Given the description of an element on the screen output the (x, y) to click on. 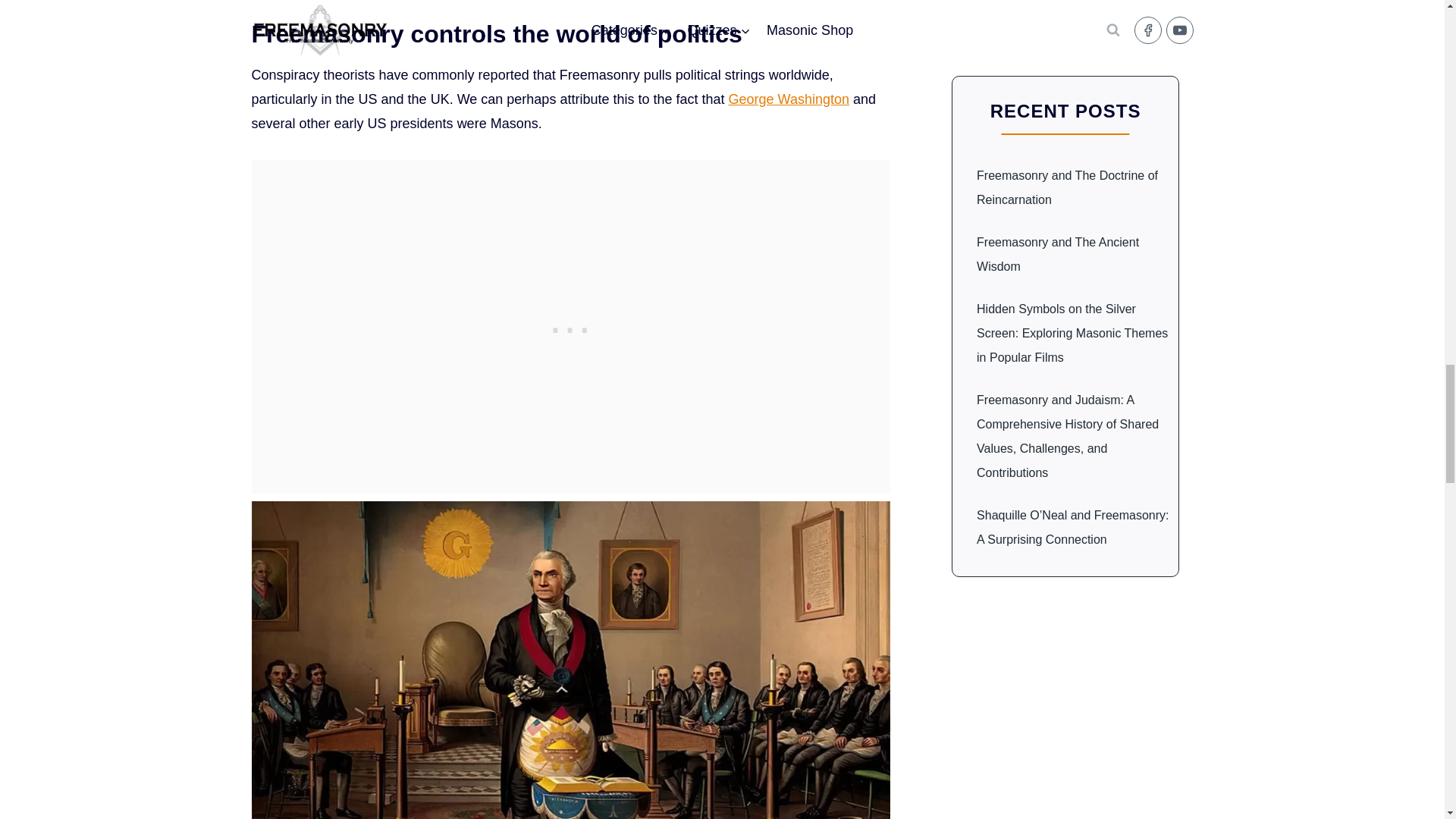
George Washington (788, 99)
